Given the description of an element on the screen output the (x, y) to click on. 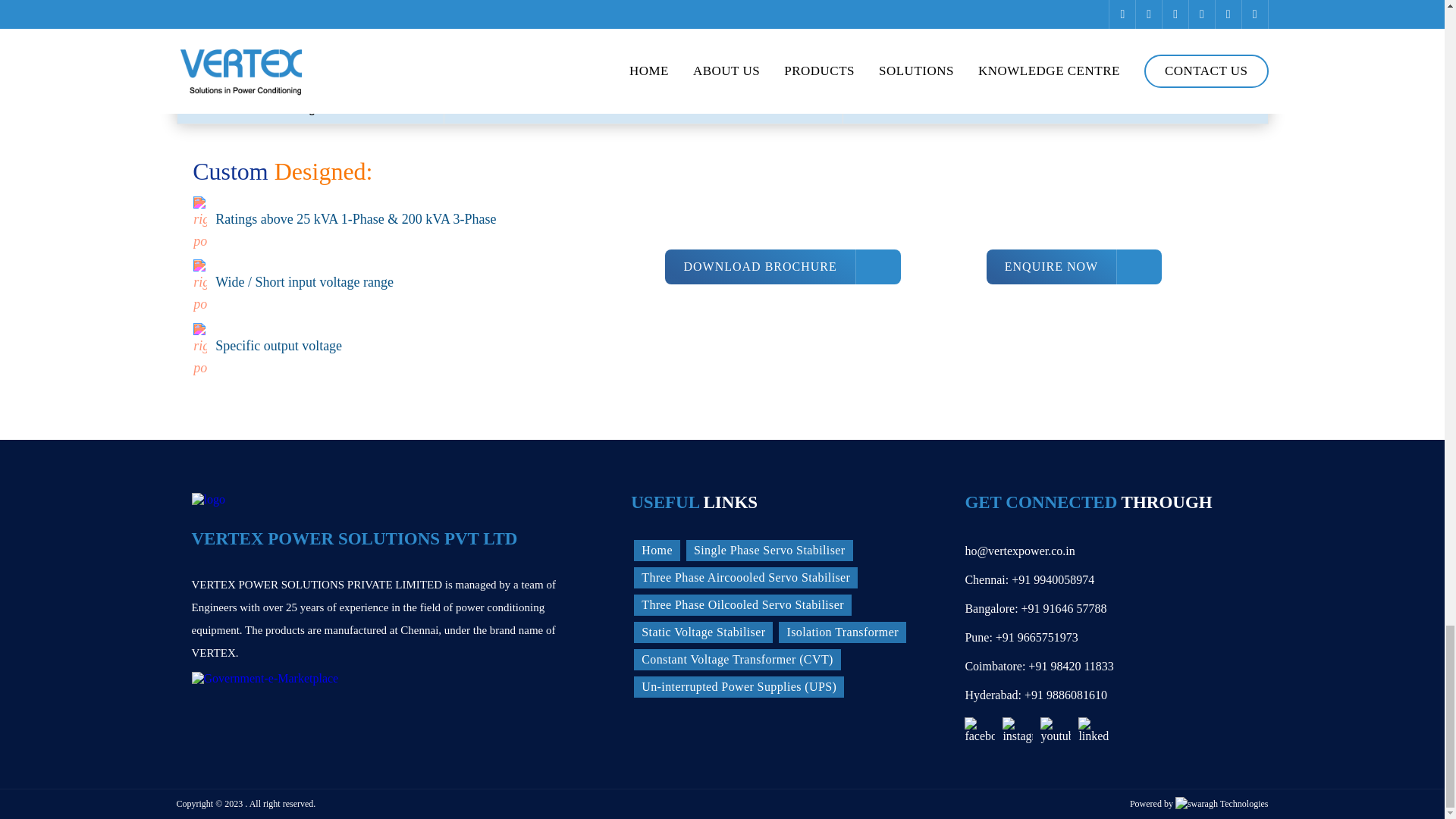
Swaragh Technologies (1221, 804)
